Given the description of an element on the screen output the (x, y) to click on. 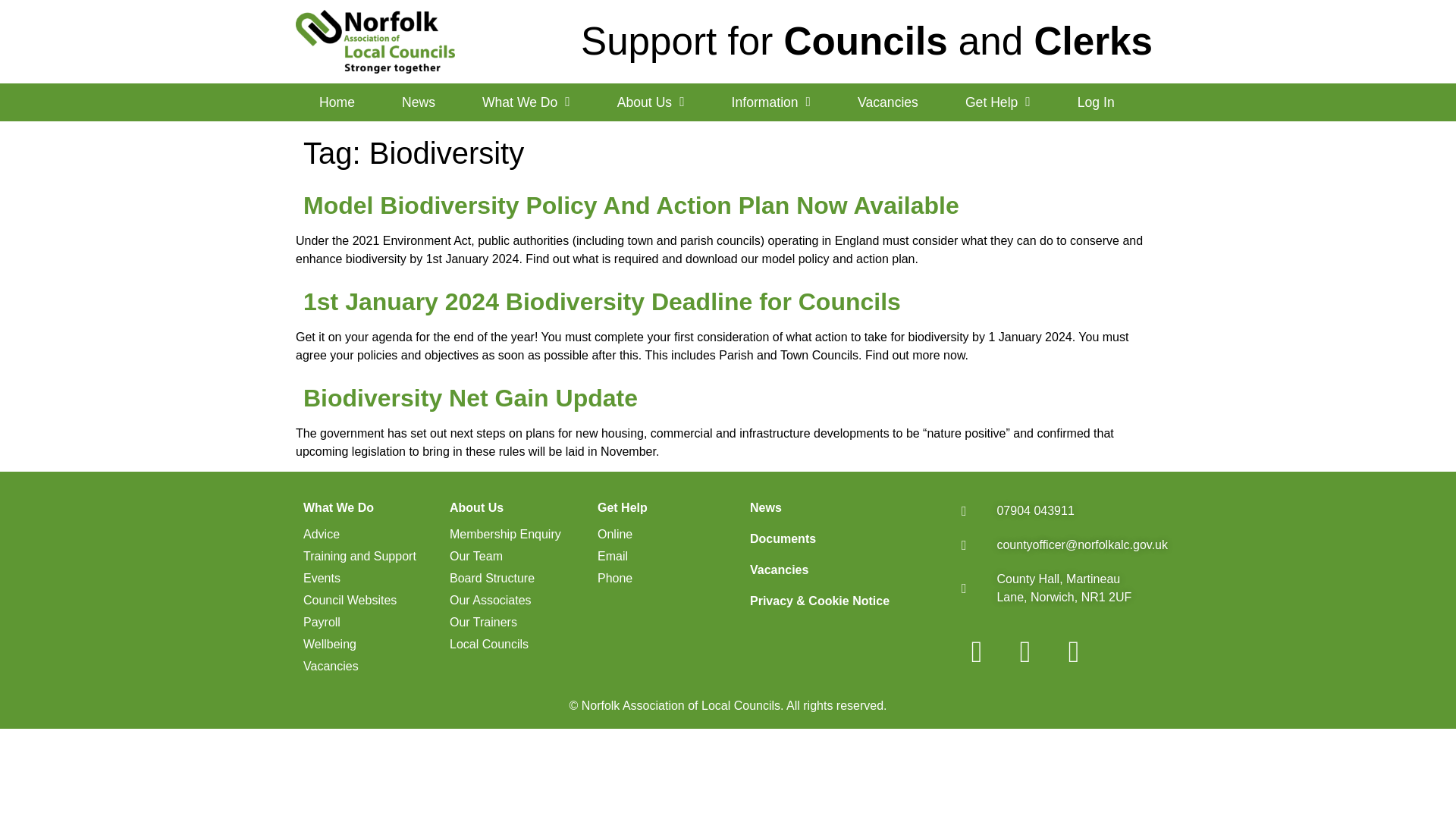
Home (336, 102)
About Us (650, 102)
What We Do (526, 102)
Information (770, 102)
News (418, 102)
